Given the description of an element on the screen output the (x, y) to click on. 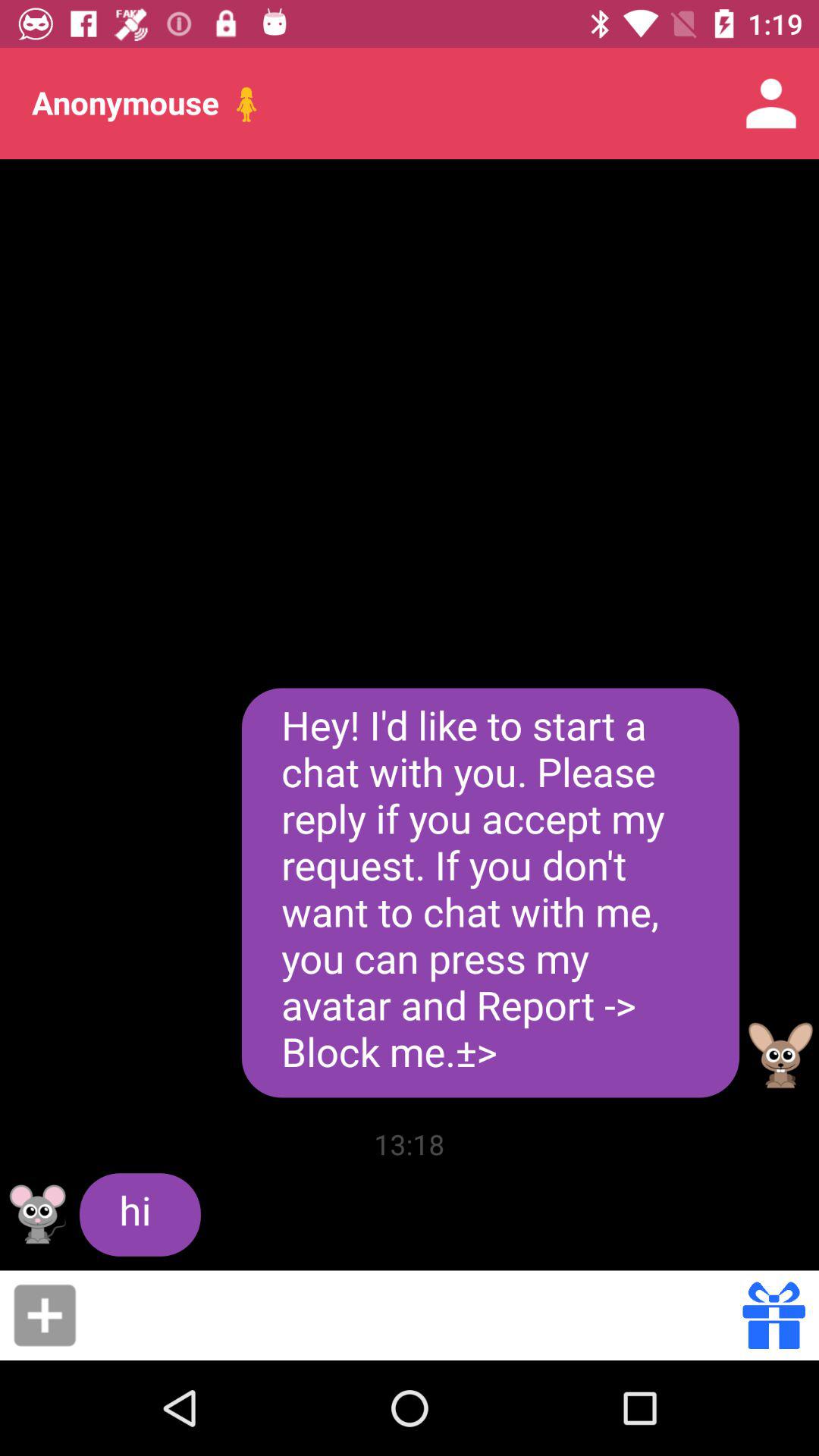
goto profile (780, 1055)
